Given the description of an element on the screen output the (x, y) to click on. 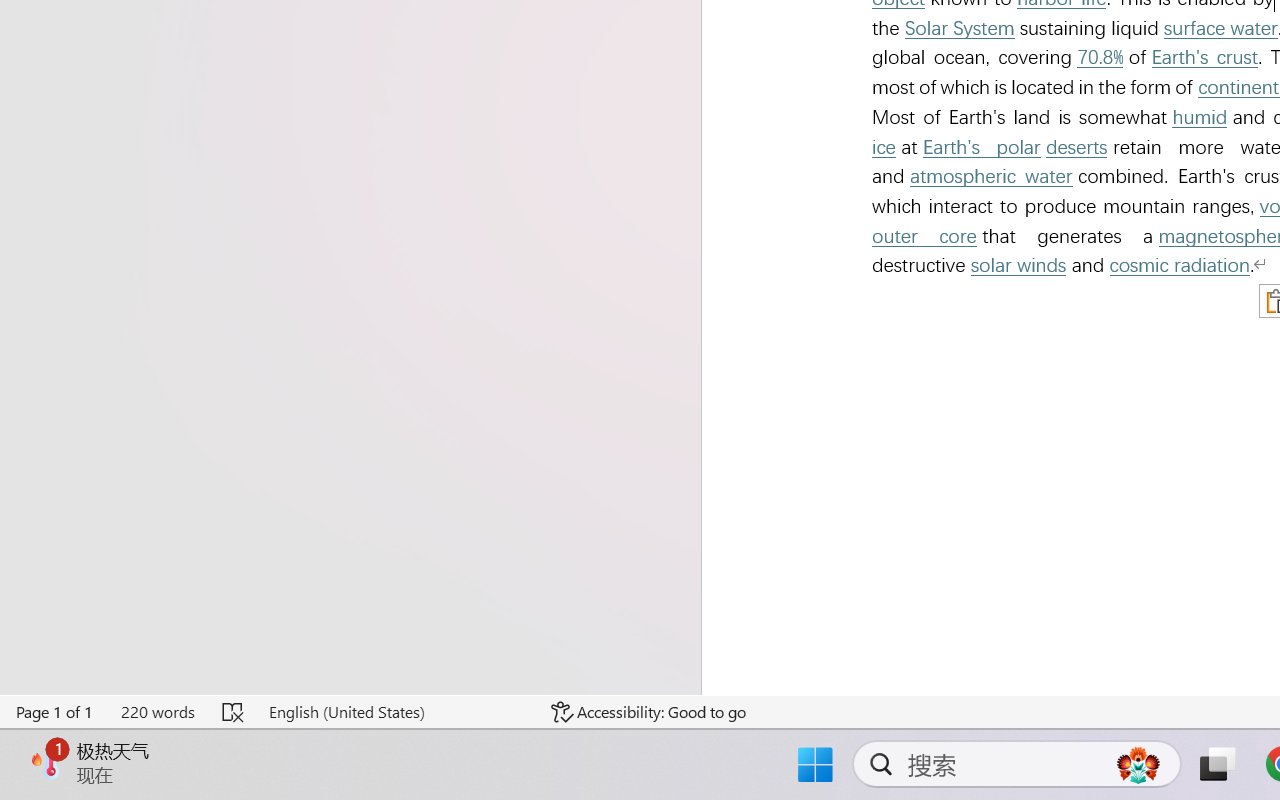
cosmic radiation (1179, 265)
humid (1199, 117)
surface water (1220, 28)
Solar System (959, 28)
deserts (1076, 147)
Earth's polar (981, 147)
70.8% (1099, 57)
atmospheric water (991, 176)
Earth's crust (1205, 57)
